Given the description of an element on the screen output the (x, y) to click on. 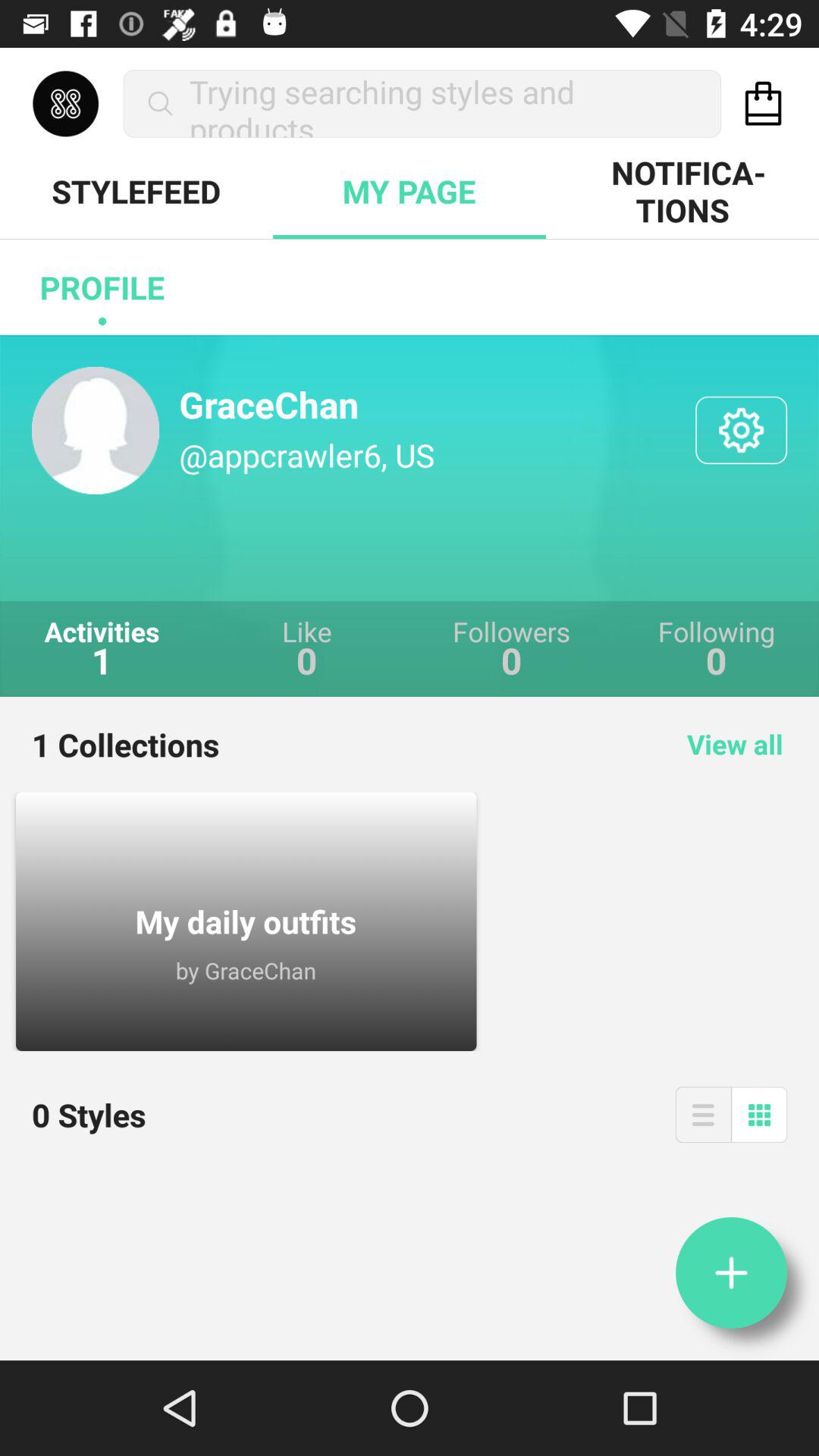
go to settings (741, 430)
